Given the description of an element on the screen output the (x, y) to click on. 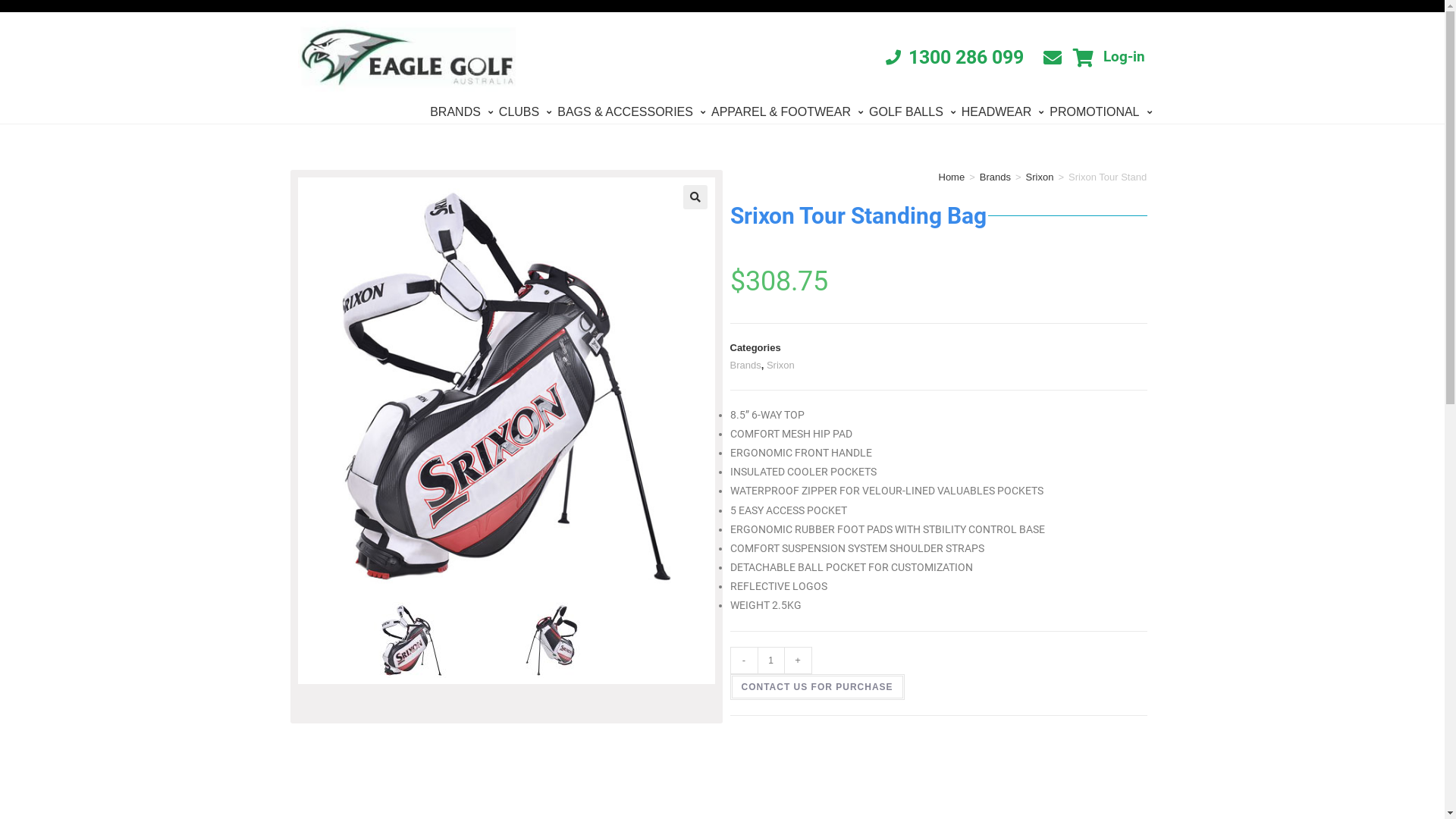
srixon tou rstanding bag-2 Element type: hover (575, 639)
HEADWEAR Element type: text (1002, 112)
PROMOTIONAL Element type: text (1100, 112)
srixon tou rstanding bag-1 Element type: hover (505, 385)
+ Element type: text (797, 660)
BAGS & ACCESSORIES Element type: text (631, 112)
CONTACT US FOR PURCHASE Element type: text (816, 686)
srixon tou rstanding bag-1 Element type: hover (435, 639)
Brands Element type: text (994, 176)
Srixon Element type: text (1040, 176)
Srixon Element type: text (780, 364)
Home Element type: text (951, 176)
Log-in Element type: text (1124, 56)
APPAREL & FOOTWEAR Element type: text (787, 112)
BRANDS Element type: text (460, 112)
Brands Element type: text (744, 364)
GOLF BALLS Element type: text (912, 112)
CLUBS Element type: text (524, 112)
- Element type: text (742, 660)
1300 286 099 Element type: text (954, 57)
